Given the description of an element on the screen output the (x, y) to click on. 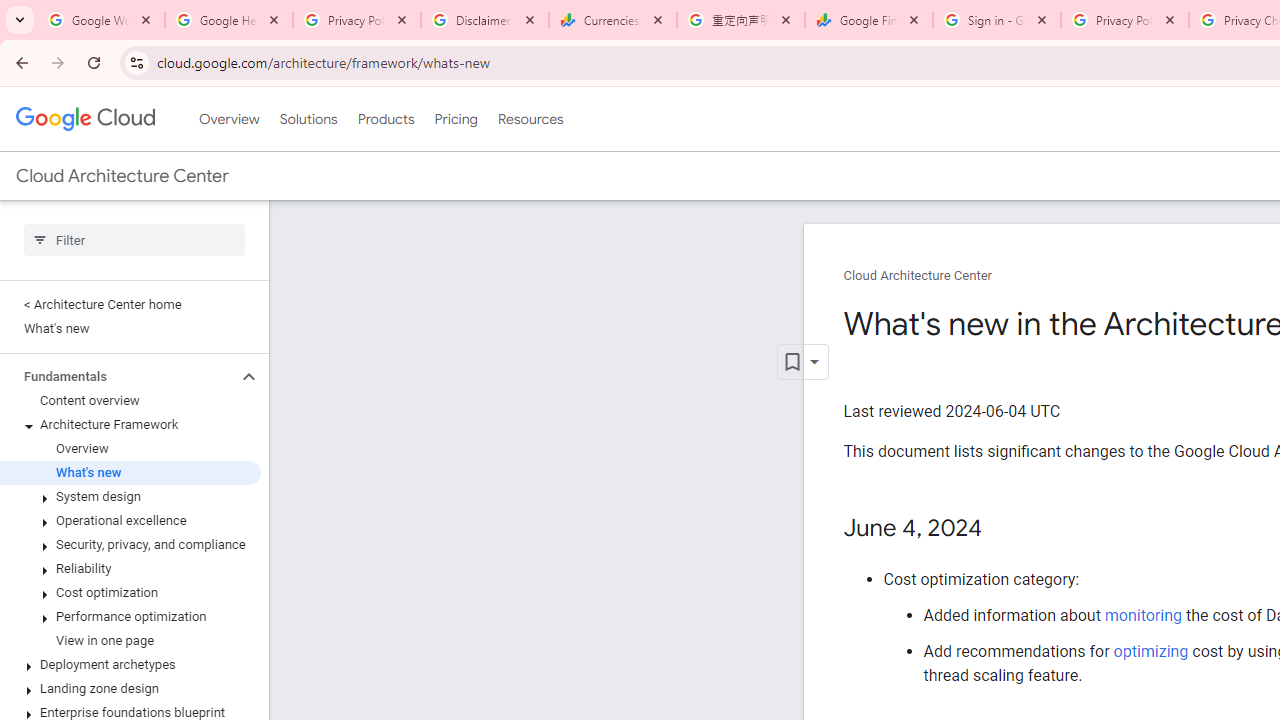
Google Cloud (84, 118)
< Architecture Center home (130, 304)
Solutions (308, 119)
Products (385, 119)
Reliability (130, 569)
Deployment archetypes (130, 664)
View in one page (130, 641)
Sign in - Google Accounts (997, 20)
Currencies - Google Finance (613, 20)
Google Workspace Admin Community (101, 20)
